Given the description of an element on the screen output the (x, y) to click on. 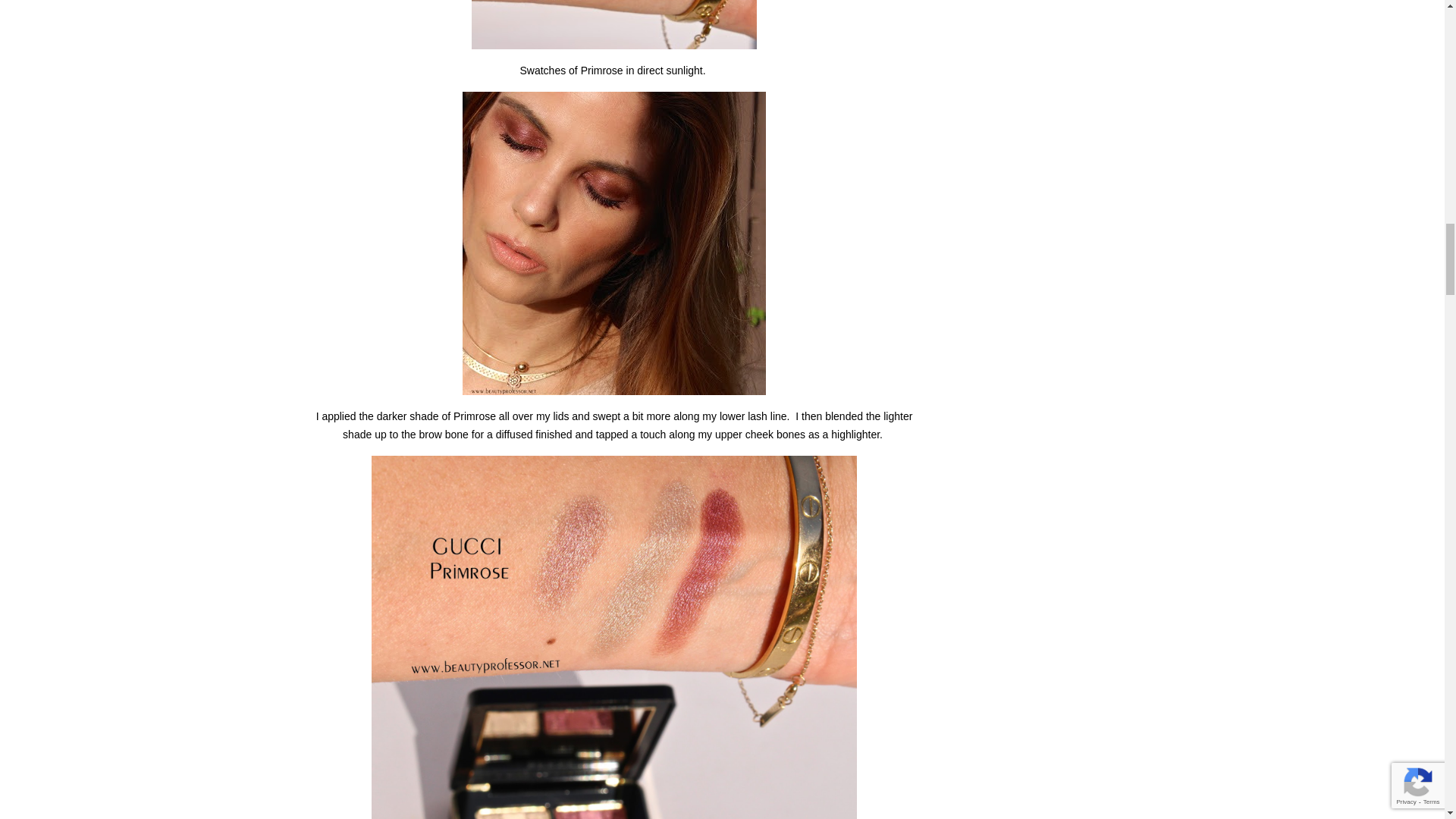
gucci eyeshadow duo primrose swatches (614, 24)
gucci eyeshadow duo primrose swatches (614, 242)
